Given the description of an element on the screen output the (x, y) to click on. 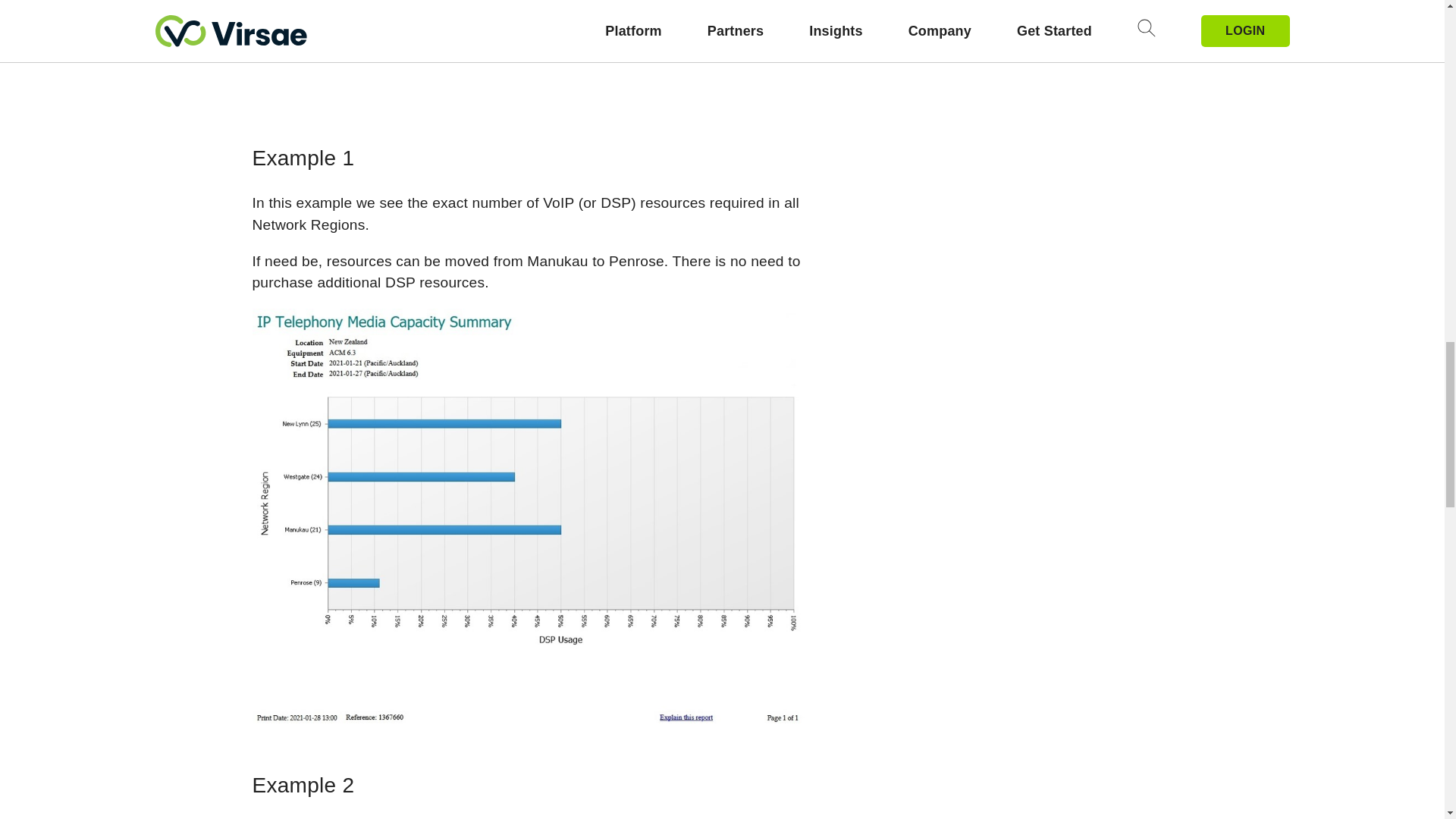
VSM Tips - IP Telephony Media (527, 52)
